Given the description of an element on the screen output the (x, y) to click on. 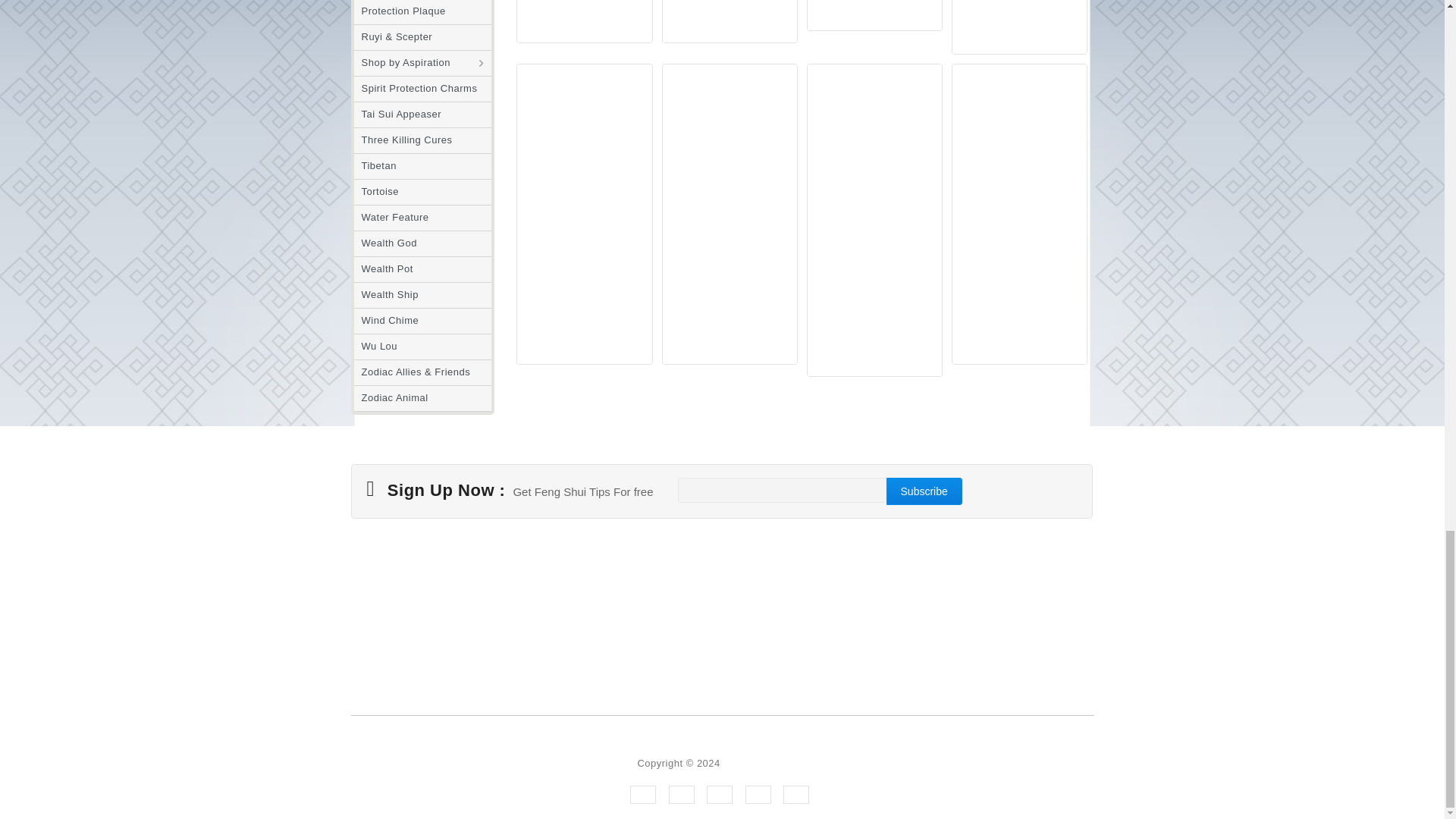
Buy-FengShui.com (765, 763)
Subscribe (924, 491)
